Given the description of an element on the screen output the (x, y) to click on. 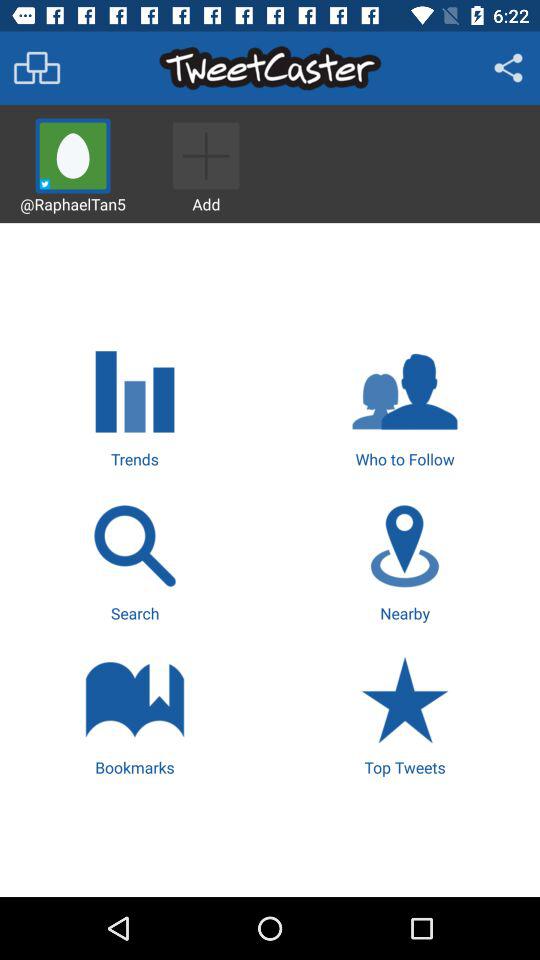
click on white egg icon which is above raphaeltan5 (72, 155)
select the symbol and text which is immediately above search button (134, 405)
click on search (134, 560)
click to add (206, 163)
click top tweets (404, 713)
